Given the description of an element on the screen output the (x, y) to click on. 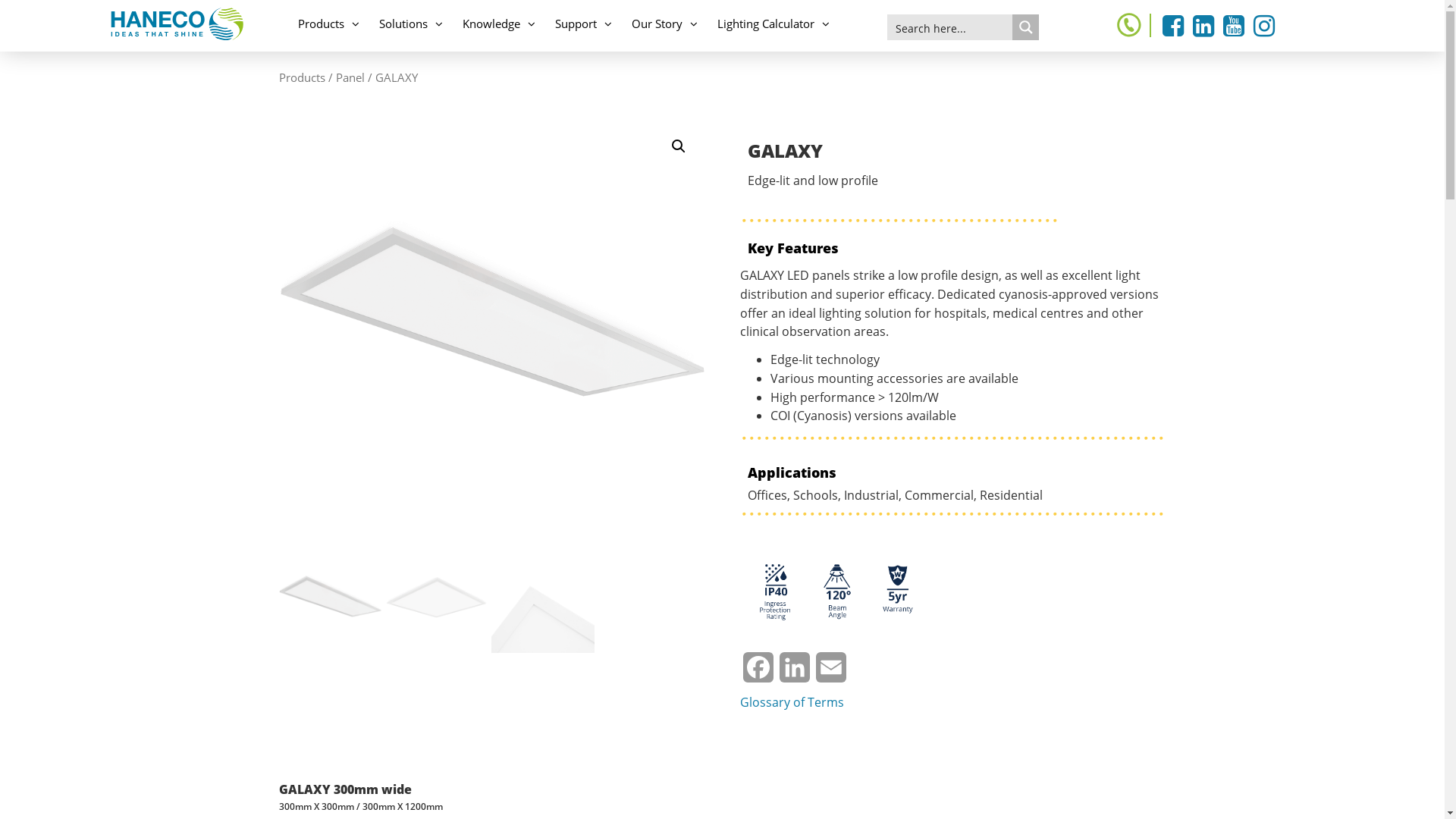
Haneco Lighting Element type: hover (174, 23)
YouTube Element type: hover (1233, 29)
GALAXY Element type: hover (492, 333)
Our Story Element type: text (664, 23)
Lighting Calculator Element type: text (773, 23)
Email Element type: text (830, 672)
Instagram Element type: hover (1263, 29)
LinkedIn Element type: text (794, 672)
Facebook Element type: text (758, 672)
Contact us Element type: hover (1130, 25)
Panel Element type: text (349, 76)
Support Element type: text (583, 23)
Products Element type: text (302, 76)
Solutions Element type: text (410, 23)
LinkedIn Element type: hover (1203, 29)
Facebook Element type: hover (1172, 29)
Products Element type: text (328, 23)
Knowledge Element type: text (498, 23)
Glossary of Terms Element type: text (792, 701)
